Given the description of an element on the screen output the (x, y) to click on. 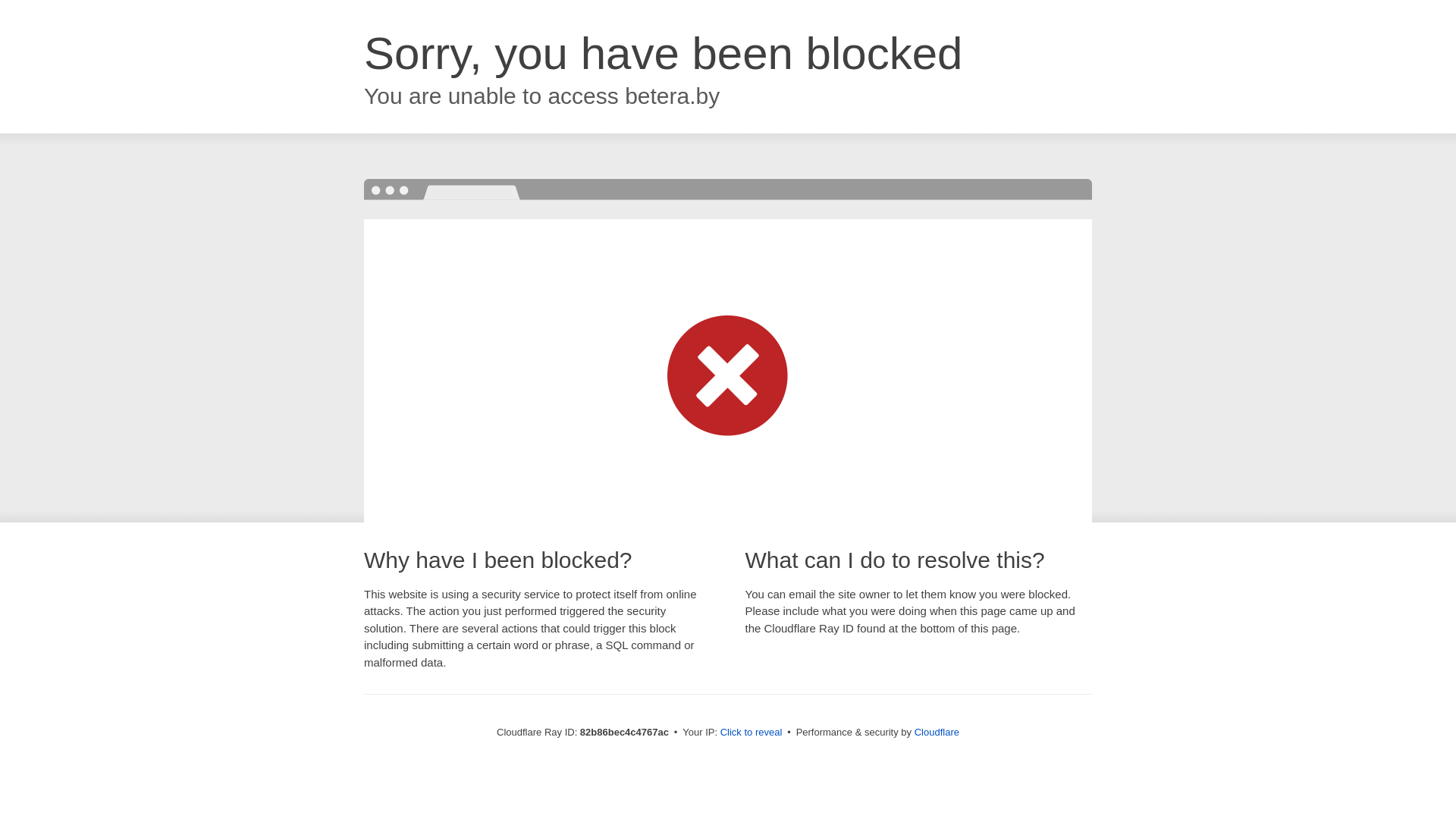
Cloudflare Element type: text (936, 731)
Click to reveal Element type: text (751, 732)
